Given the description of an element on the screen output the (x, y) to click on. 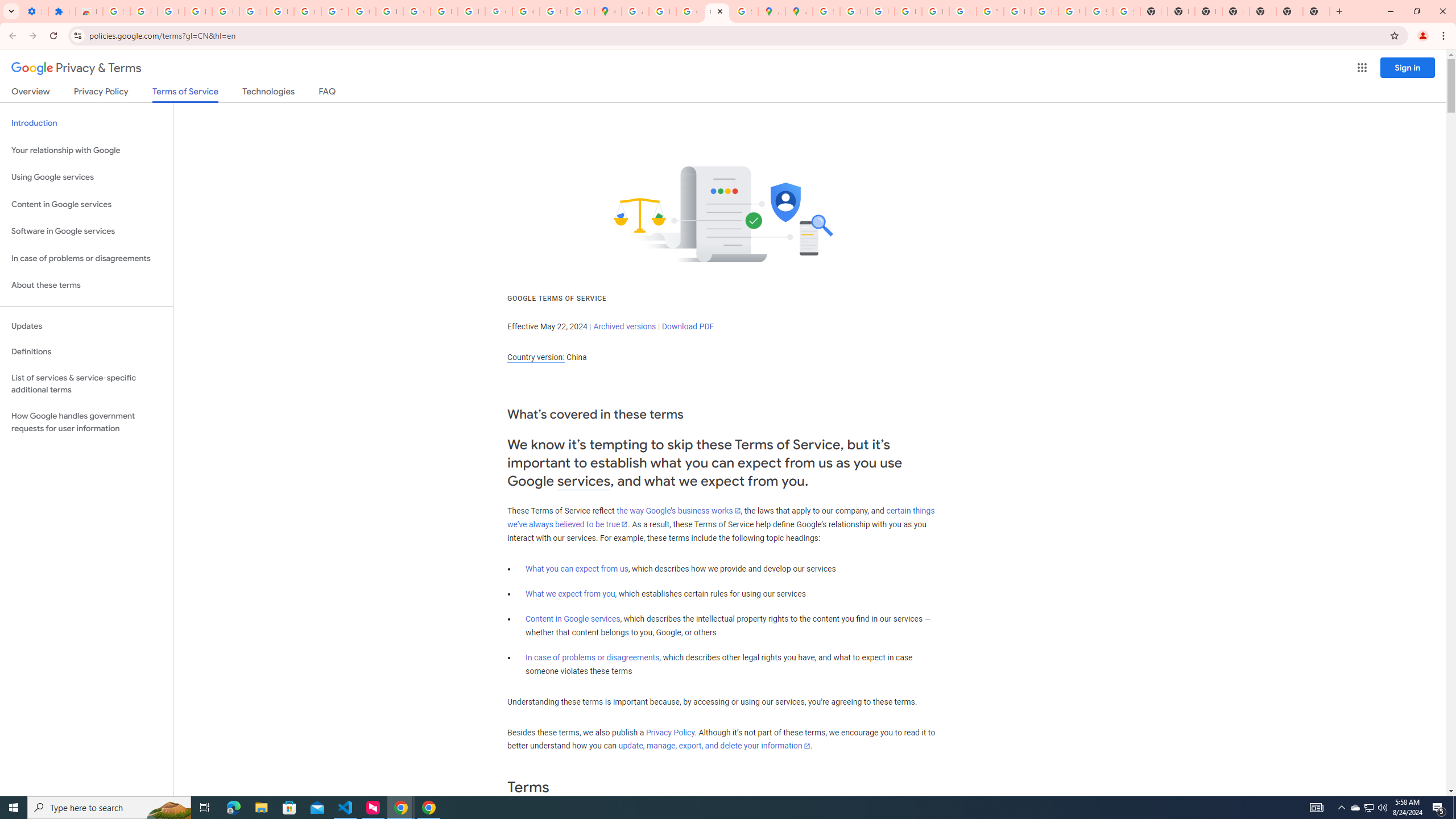
In case of problems or disagreements (592, 657)
Google Maps (607, 11)
New Tab (1289, 11)
